Given the description of an element on the screen output the (x, y) to click on. 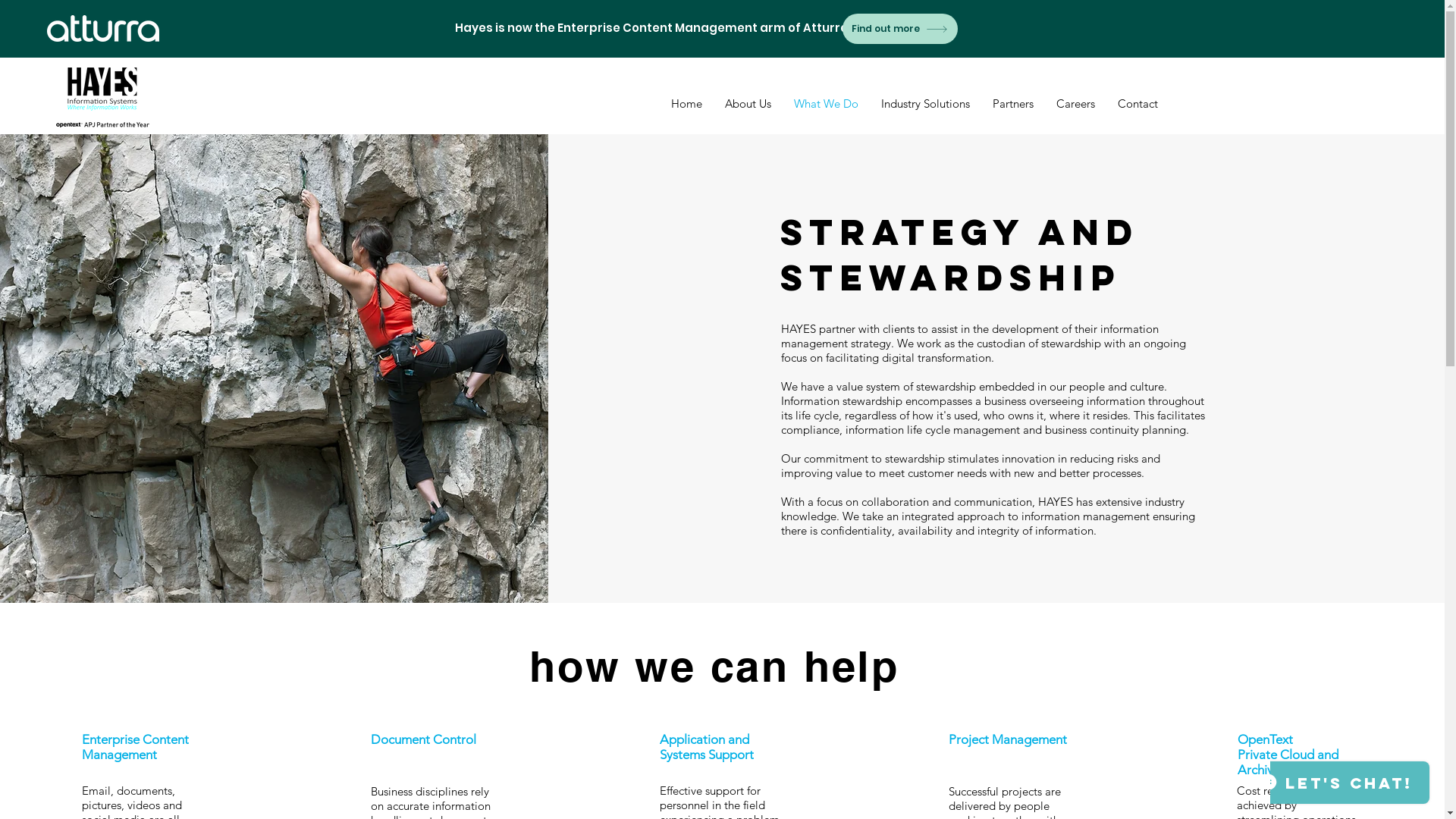
Find out more Element type: text (899, 28)
Contact Element type: text (1136, 103)
What We Do Element type: text (825, 103)
Home Element type: text (686, 103)
Careers Element type: text (1075, 103)
Partners Element type: text (1012, 103)
Industry Solutions Element type: text (924, 103)
About Us Element type: text (746, 103)
